Given the description of an element on the screen output the (x, y) to click on. 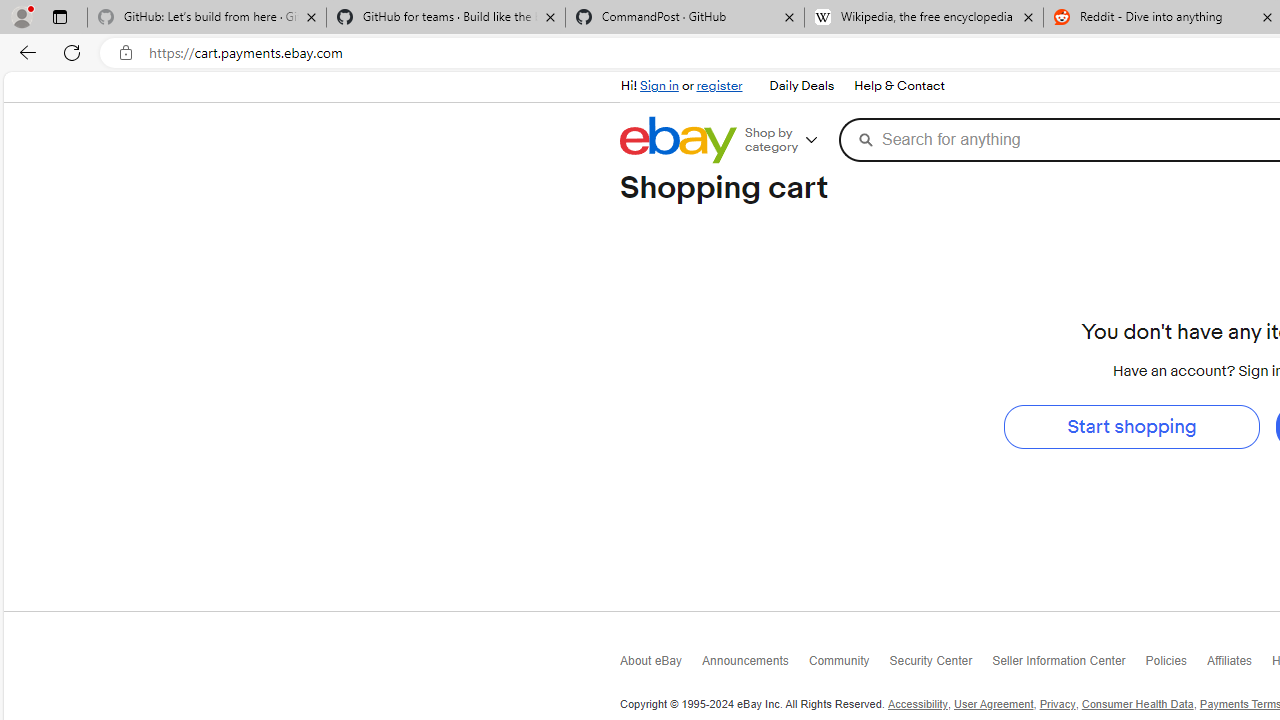
Daily Deals (801, 86)
Shop by category (788, 140)
Security Center (941, 665)
Consumer Health Data (1137, 704)
Seller Information Center (1068, 665)
Help & Contact (898, 86)
register (719, 85)
User Agreement (993, 704)
Affiliates (1239, 664)
Policies (1176, 664)
Sign in (659, 85)
Policies (1176, 665)
